Given the description of an element on the screen output the (x, y) to click on. 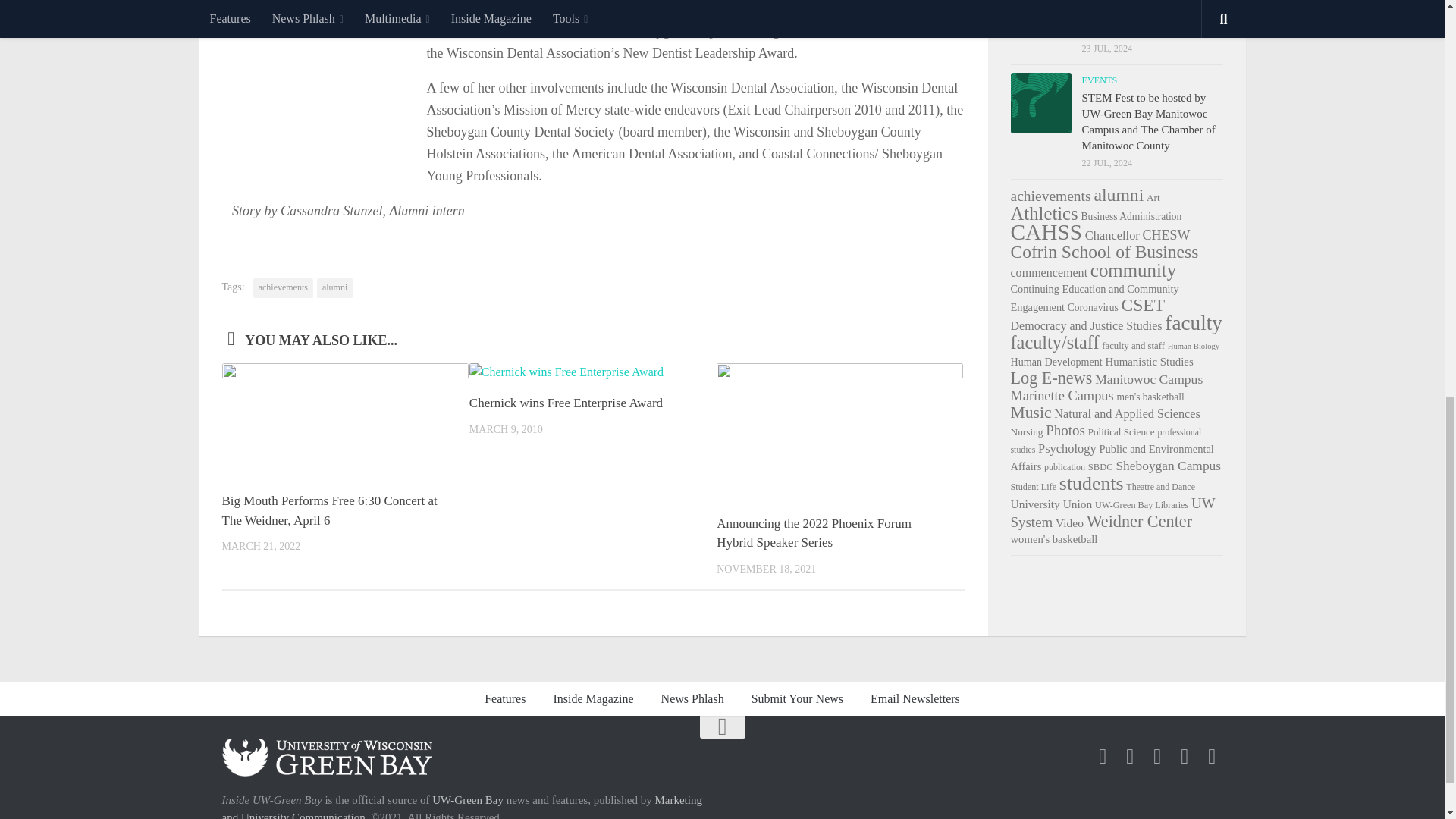
Big Mouth Performs Free 6:30 Concert at The Weidner, April 6 (328, 510)
Chernick wins Free Enterprise Award (565, 402)
Announcing the 2022 Phoenix Forum Hybrid Speaker Series (813, 533)
achievements (283, 288)
alumni (334, 288)
